Given the description of an element on the screen output the (x, y) to click on. 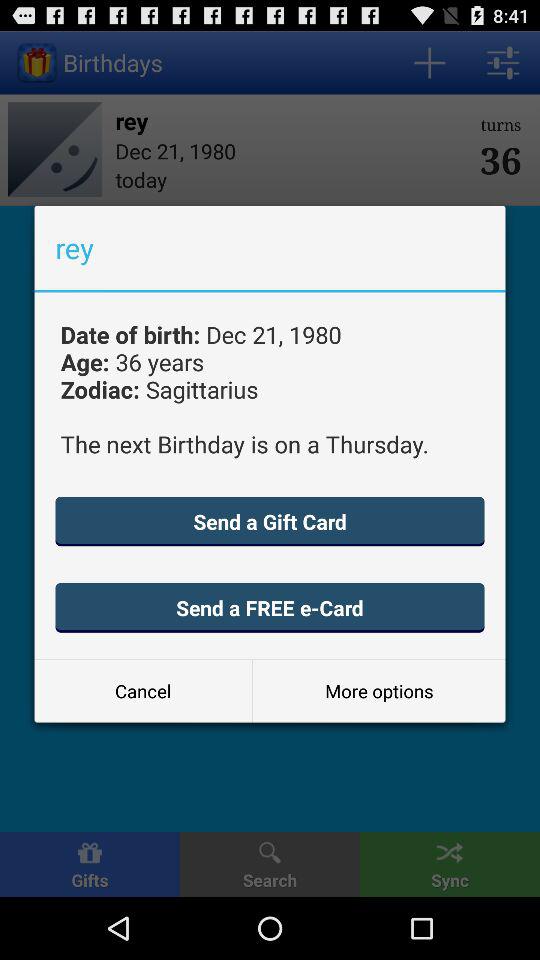
select icon next to the more options (143, 690)
